Given the description of an element on the screen output the (x, y) to click on. 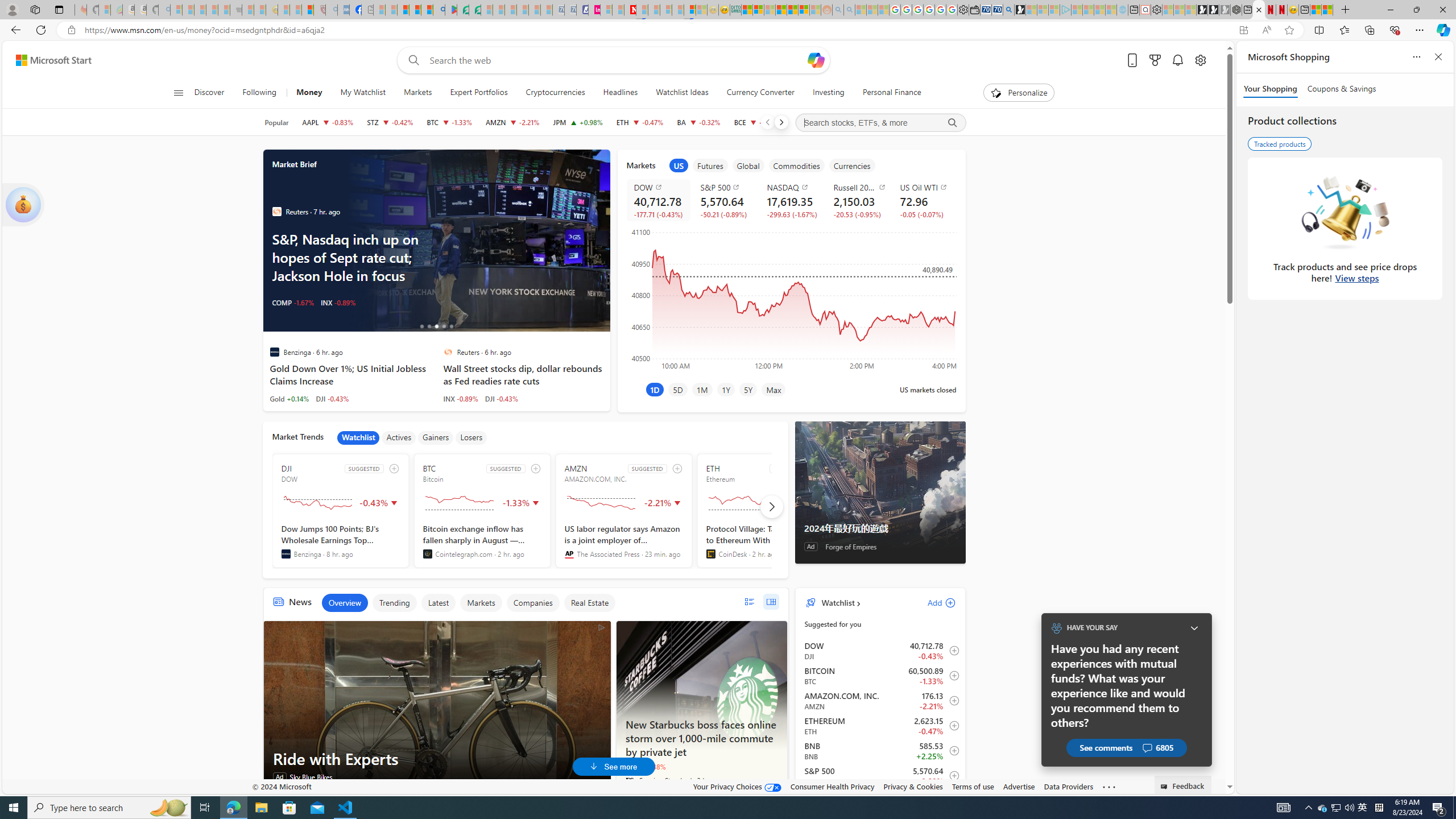
Personal Finance (891, 92)
Personal Finance (887, 92)
Reuters (447, 351)
Losers (471, 437)
INX S&P 500 decrease 5,570.64 -50.21 -0.89% item5 (880, 775)
Russell 2000 (859, 187)
The Associated Press (568, 553)
